Given the description of an element on the screen output the (x, y) to click on. 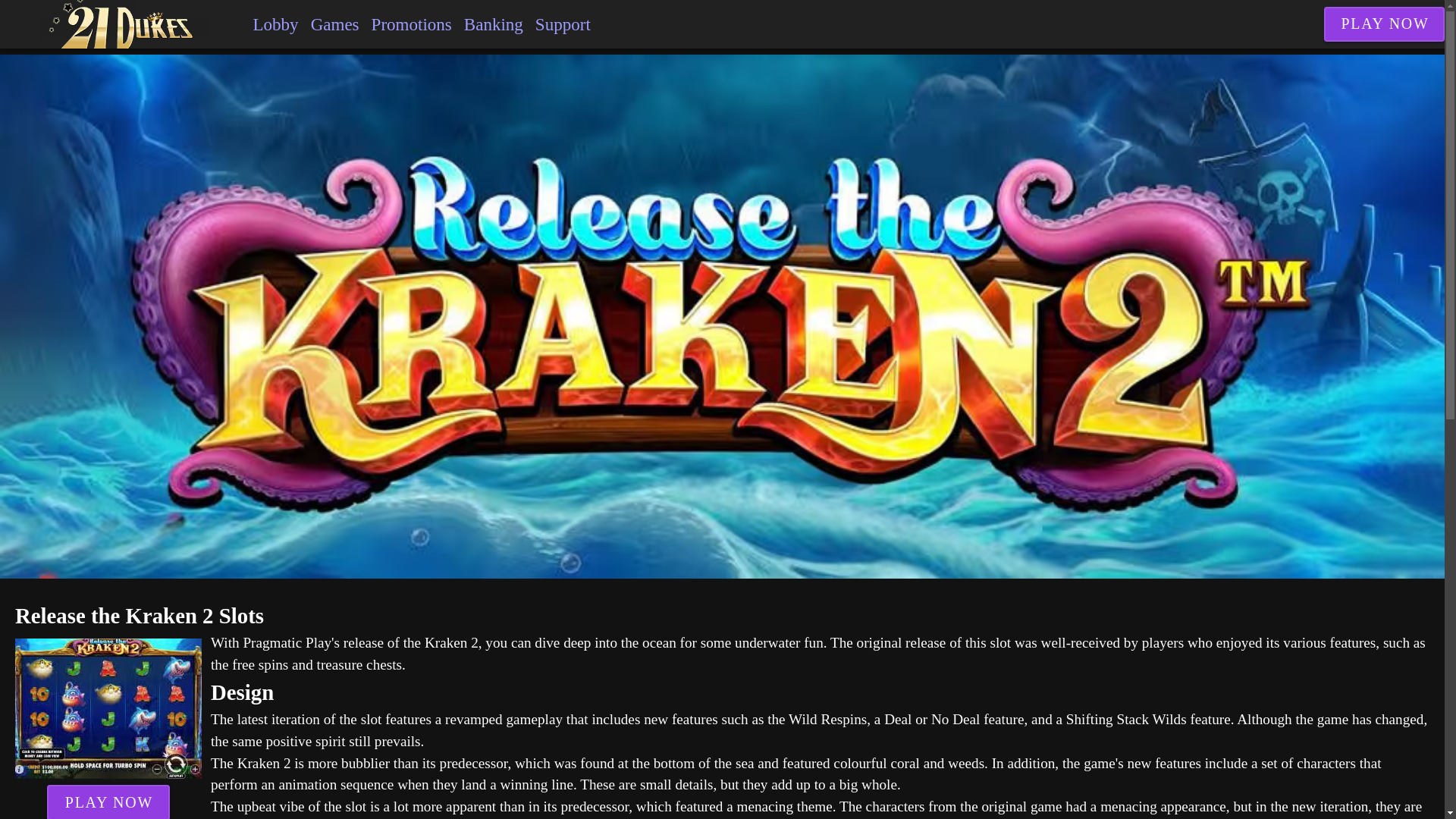
Lobby Element type: text (275, 24)
Banking Element type: text (493, 24)
Support Element type: text (562, 24)
Promotions Element type: text (411, 24)
PLAY NOW Element type: text (1384, 23)
Games Element type: text (334, 24)
